Given the description of an element on the screen output the (x, y) to click on. 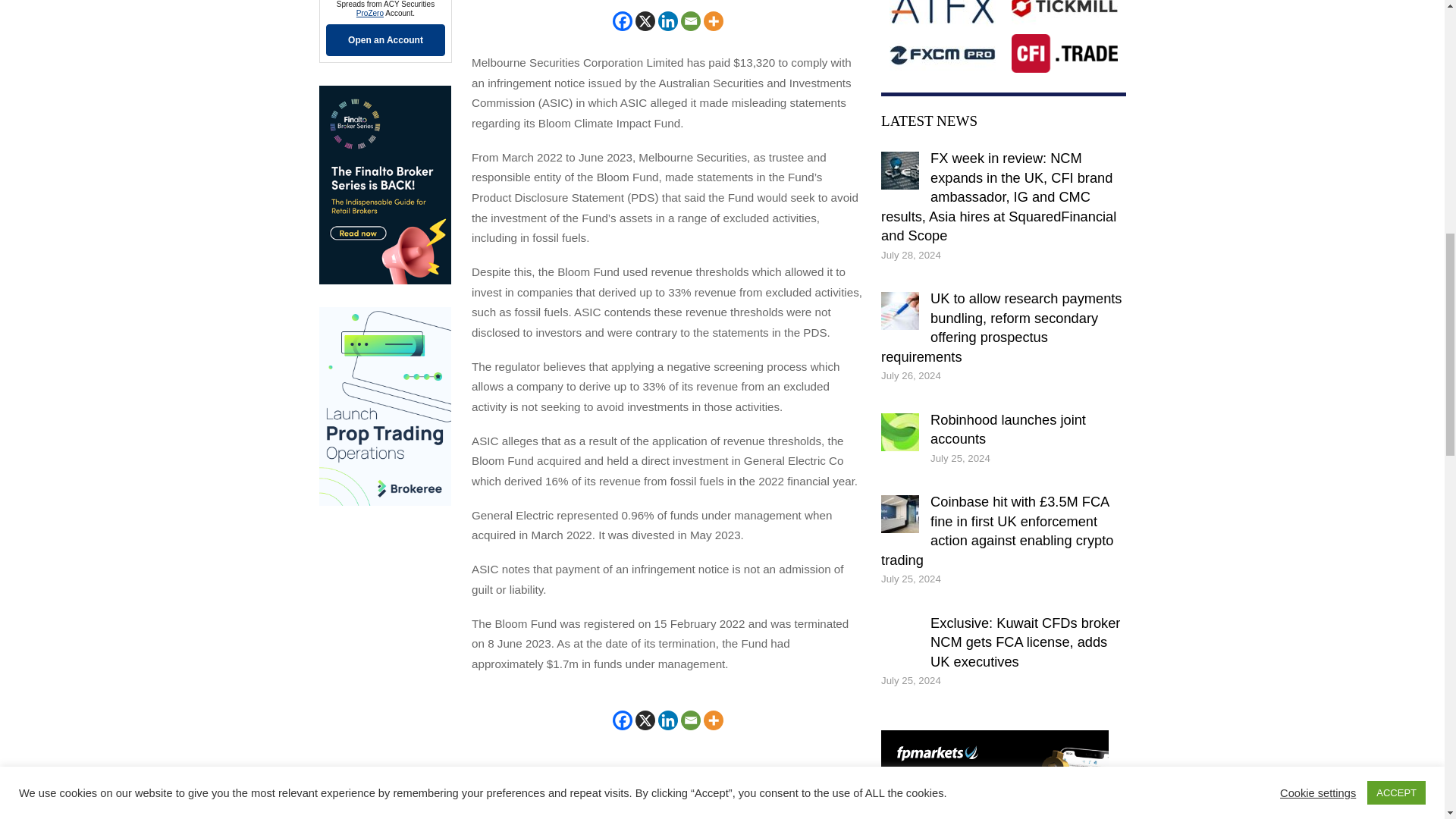
More (713, 21)
X (644, 720)
Facebook (621, 21)
X (644, 21)
Facebook (621, 720)
Linkedin (668, 21)
Email (690, 21)
